Given the description of an element on the screen output the (x, y) to click on. 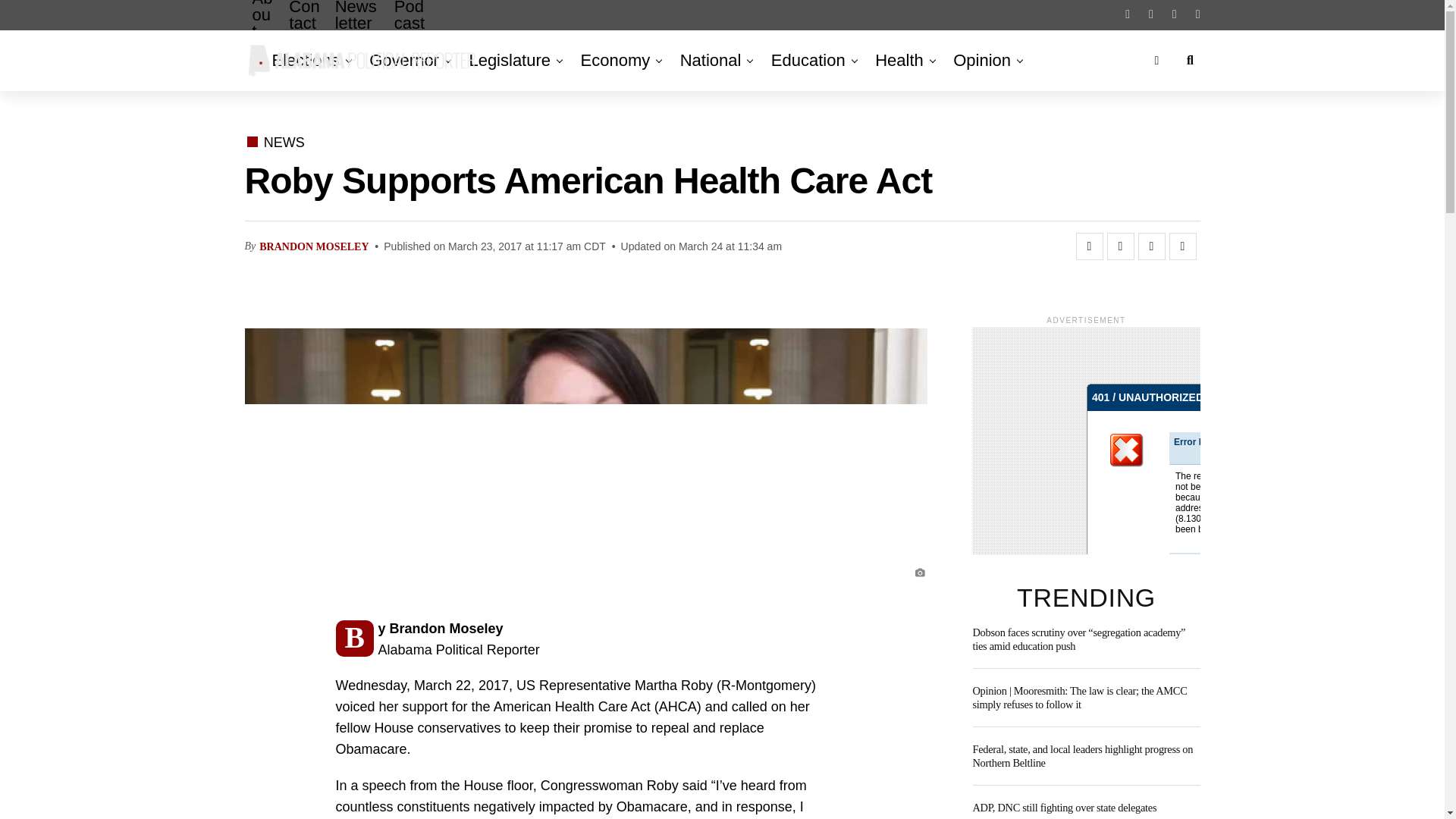
Share on Facebook (1088, 246)
Elections (308, 60)
Governor (403, 60)
Share on Flipboard (1150, 246)
Posts by Brandon Moseley (313, 246)
Newsletter (357, 27)
Tweet This Post (1120, 246)
